Given the description of an element on the screen output the (x, y) to click on. 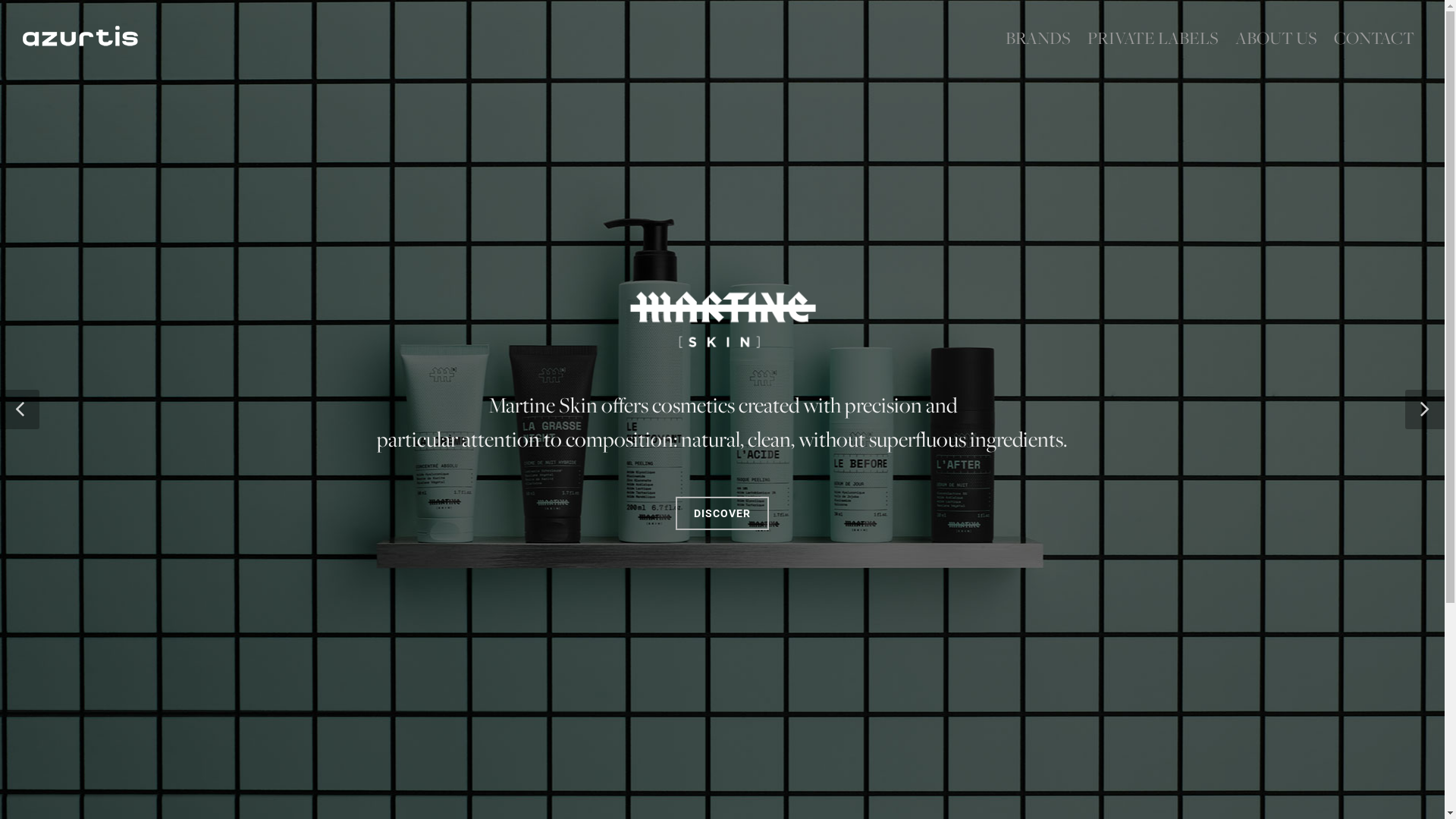
BRANDS Element type: text (1037, 37)
CONTACT Element type: text (1373, 37)
ABOUT US Element type: text (1275, 37)
DISCOVER Element type: text (721, 544)
PRIVATE LABELS Element type: text (1152, 37)
